Given the description of an element on the screen output the (x, y) to click on. 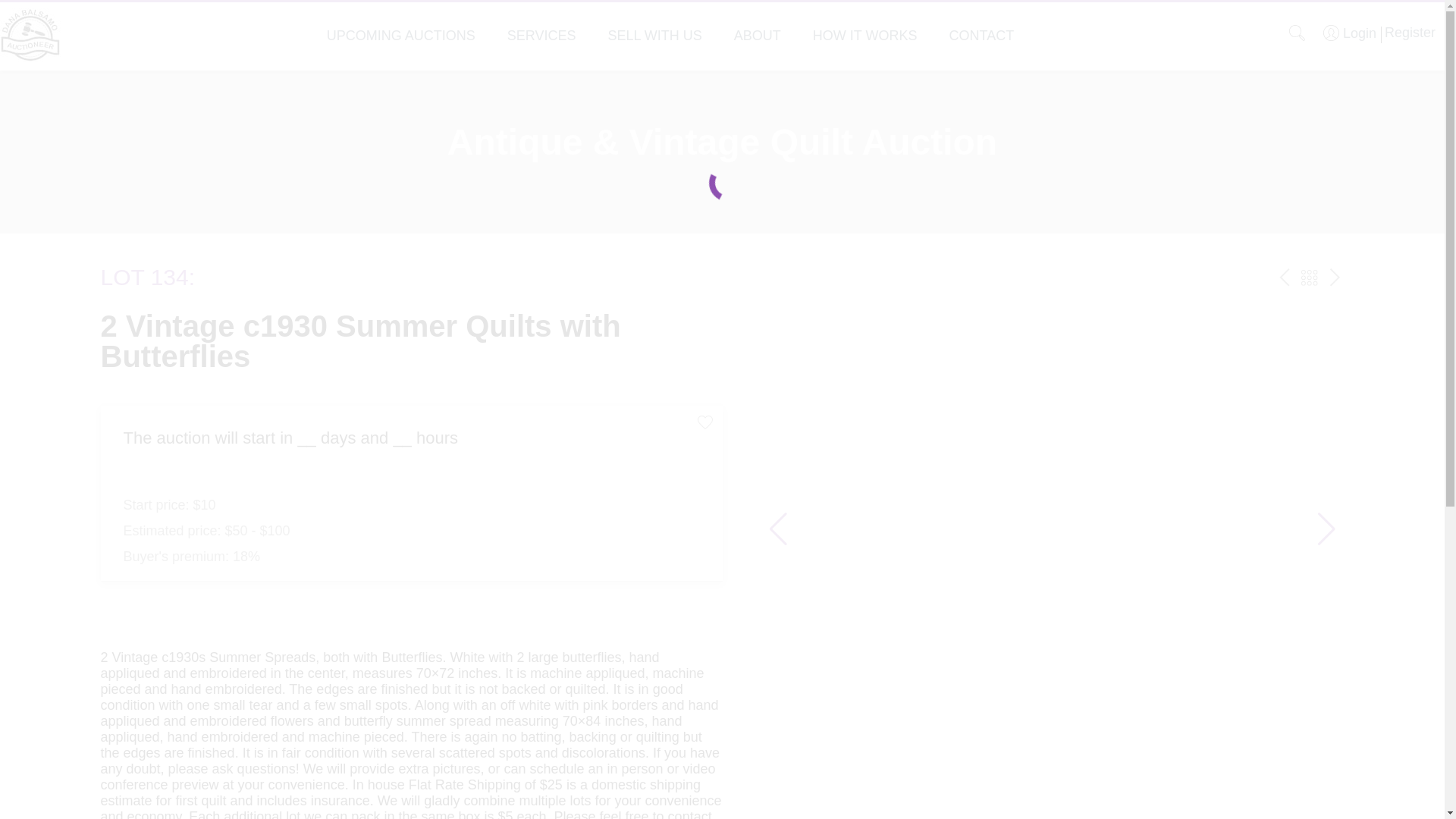
CONTACT (981, 35)
Login (1349, 32)
SELL WITH US (654, 35)
HOW IT WORKS (865, 35)
Register (1407, 32)
SERVICES (542, 35)
UPCOMING AUCTIONS (400, 35)
ABOUT (757, 35)
PREV (1284, 277)
